Given the description of an element on the screen output the (x, y) to click on. 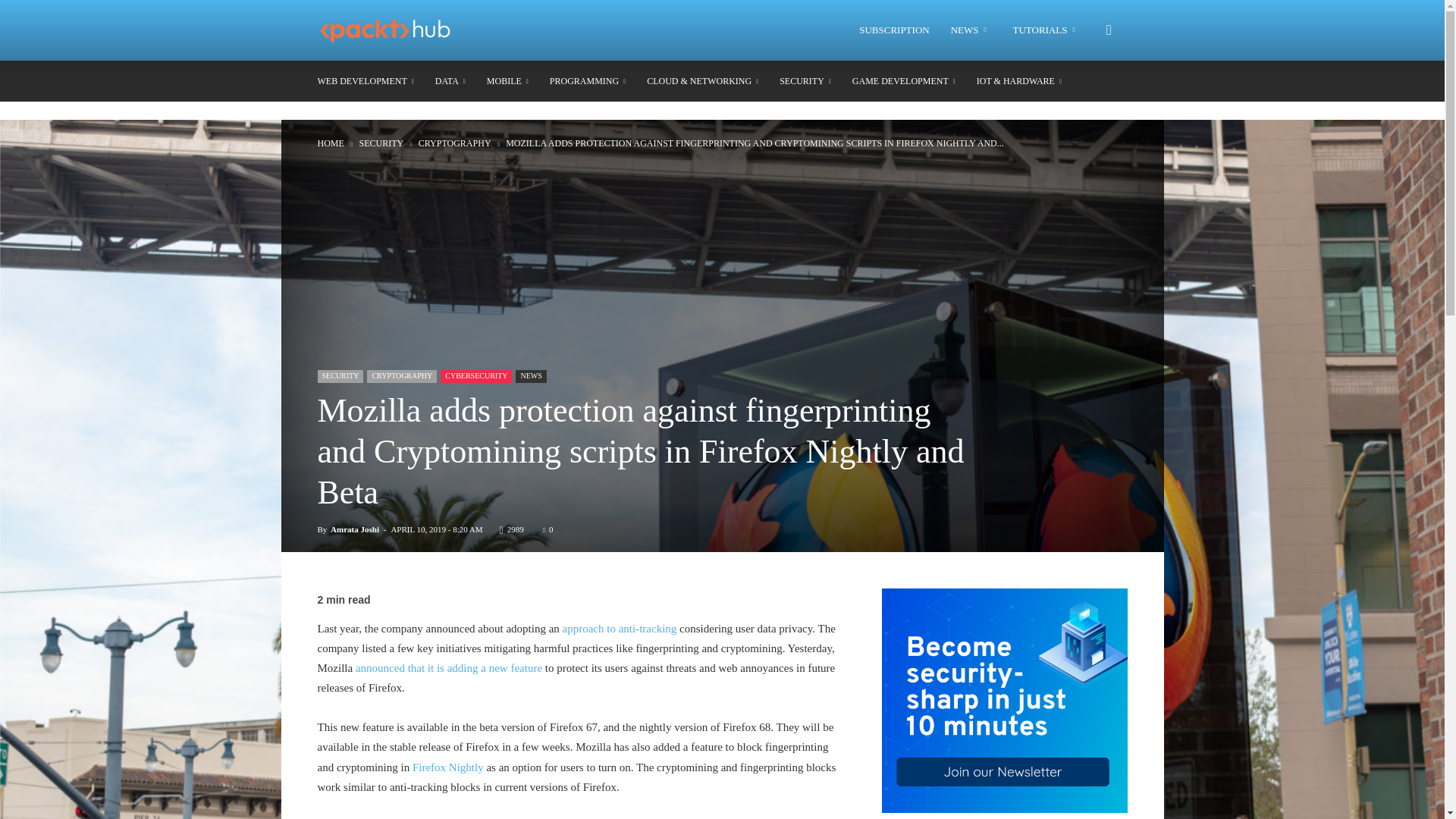
Packt Hub (393, 30)
Packt Hub (385, 30)
SUBSCRIPTION (893, 30)
TUTORIALS (1046, 30)
NEWS (971, 30)
